Given the description of an element on the screen output the (x, y) to click on. 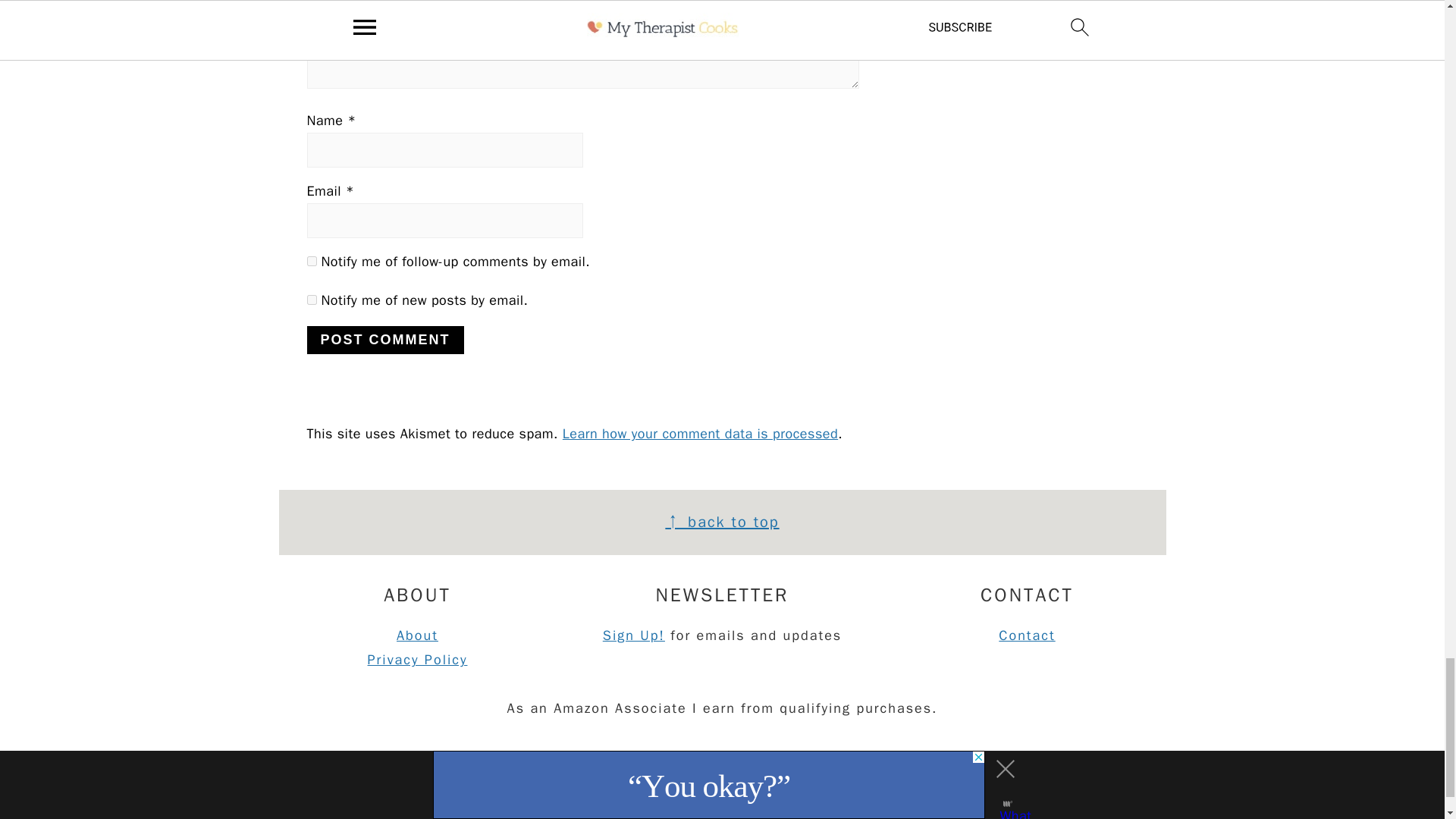
subscribe (310, 299)
subscribe (310, 261)
Post Comment (384, 339)
